Given the description of an element on the screen output the (x, y) to click on. 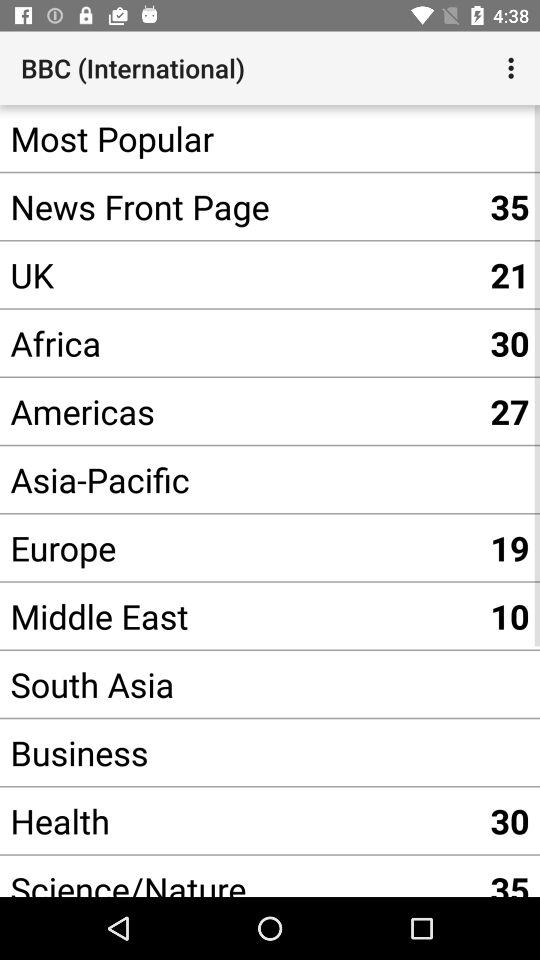
turn off app above 19 app (240, 479)
